Given the description of an element on the screen output the (x, y) to click on. 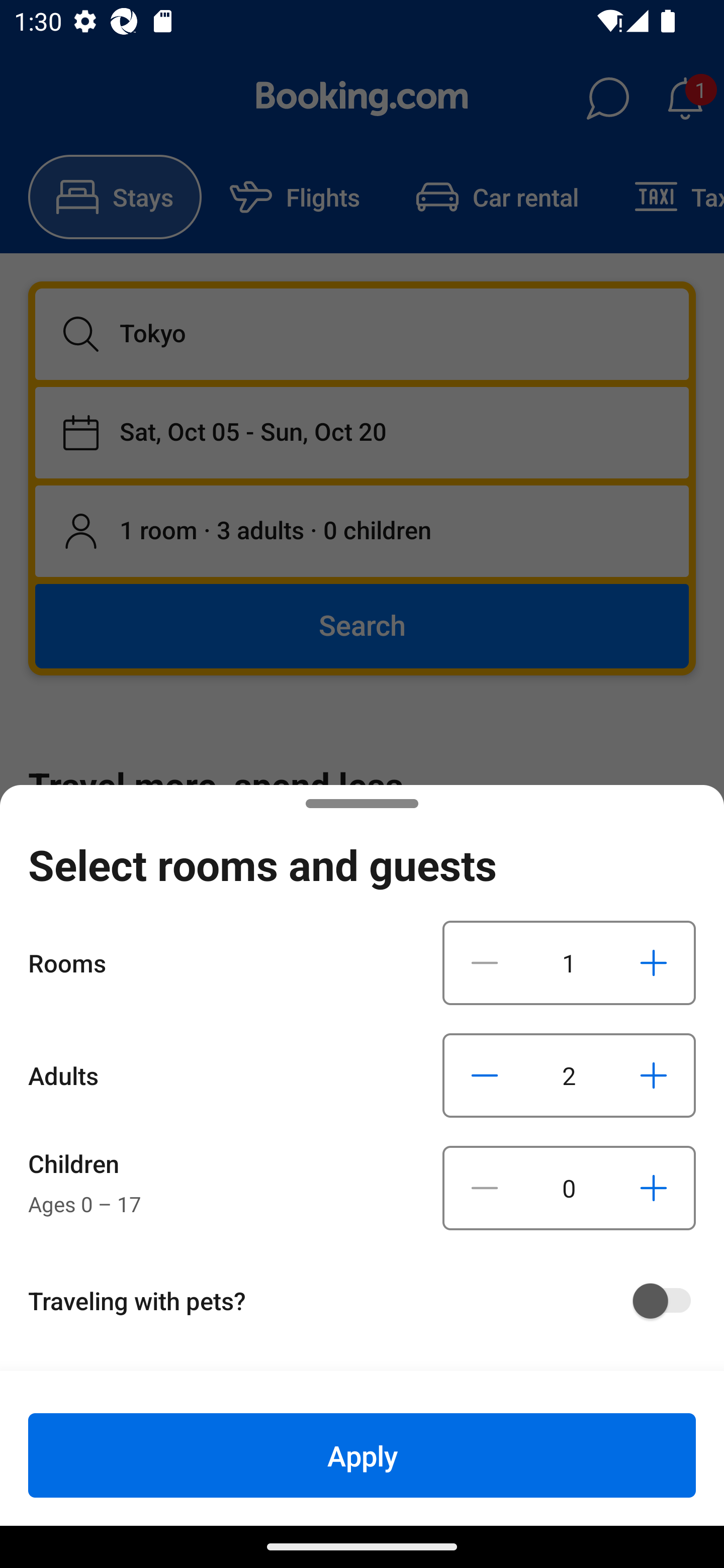
Decrease (484, 962)
Increase (653, 962)
Decrease (484, 1075)
Increase (653, 1075)
Decrease (484, 1188)
Increase (653, 1188)
Traveling with pets? (369, 1300)
Apply (361, 1454)
